Given the description of an element on the screen output the (x, y) to click on. 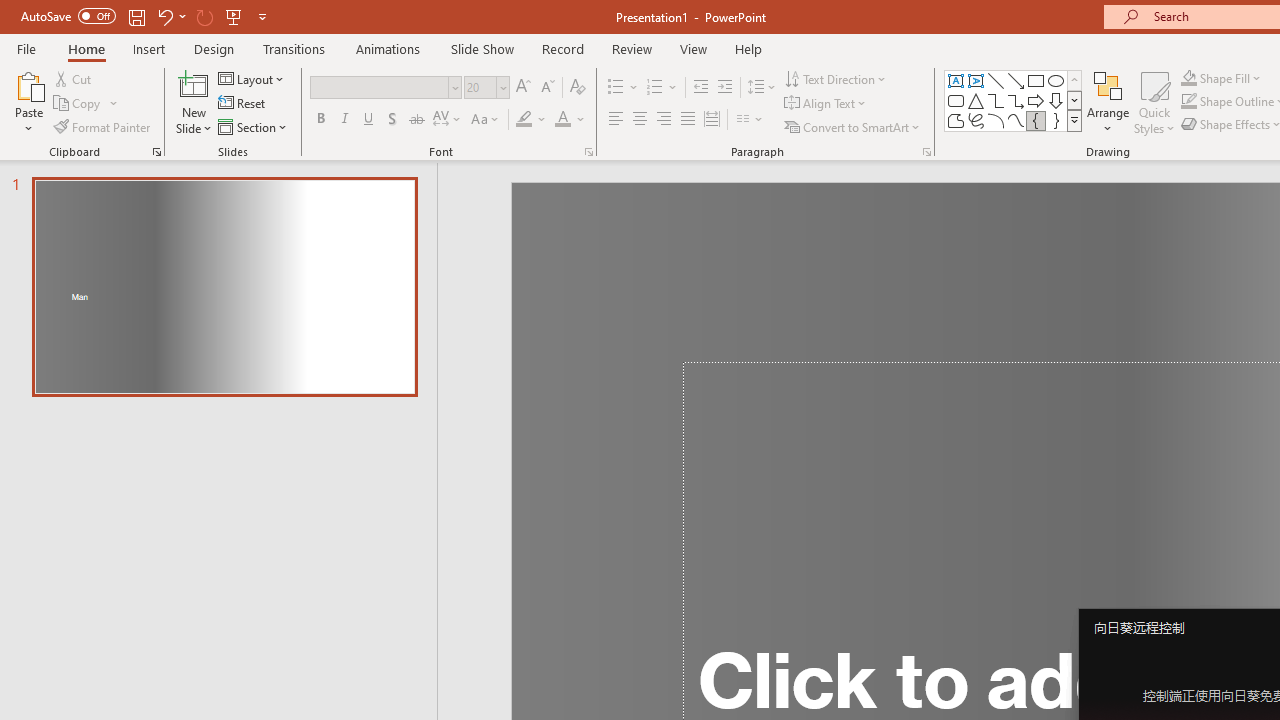
Shape Outline Blue, Accent 1 (1188, 101)
